Given the description of an element on the screen output the (x, y) to click on. 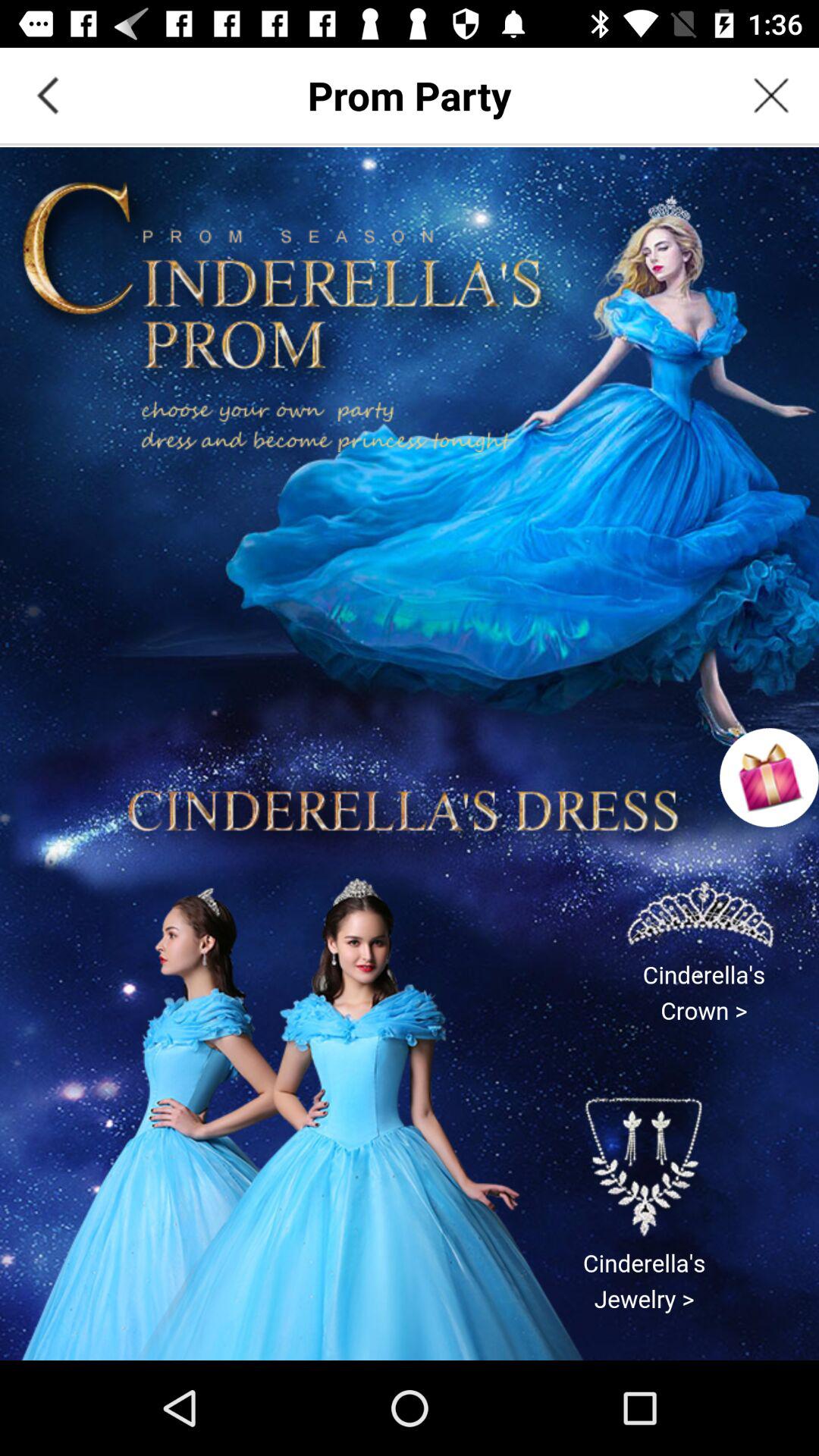
go back (47, 95)
